Given the description of an element on the screen output the (x, y) to click on. 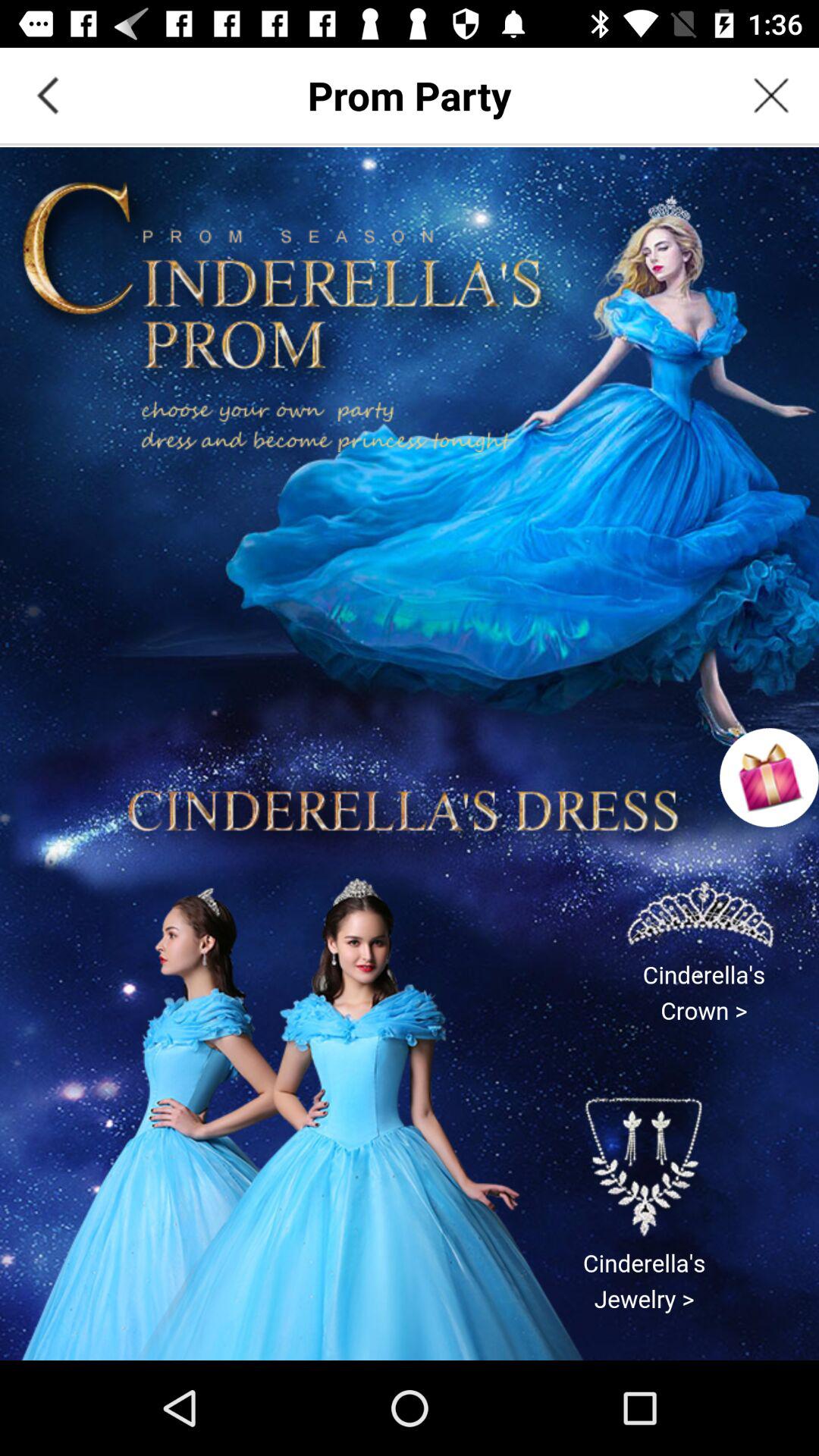
go back (47, 95)
